Given the description of an element on the screen output the (x, y) to click on. 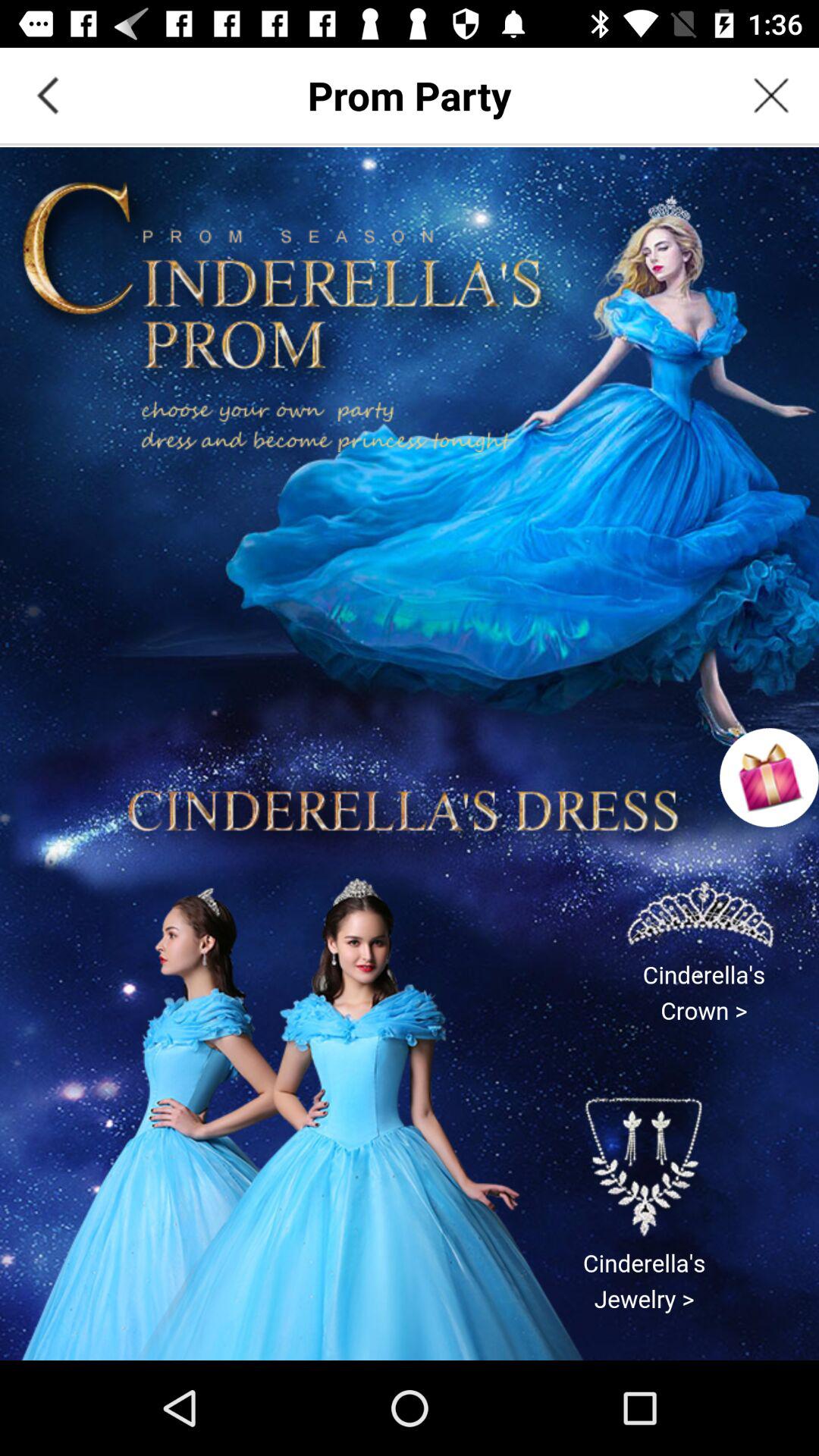
go back (47, 95)
